Given the description of an element on the screen output the (x, y) to click on. 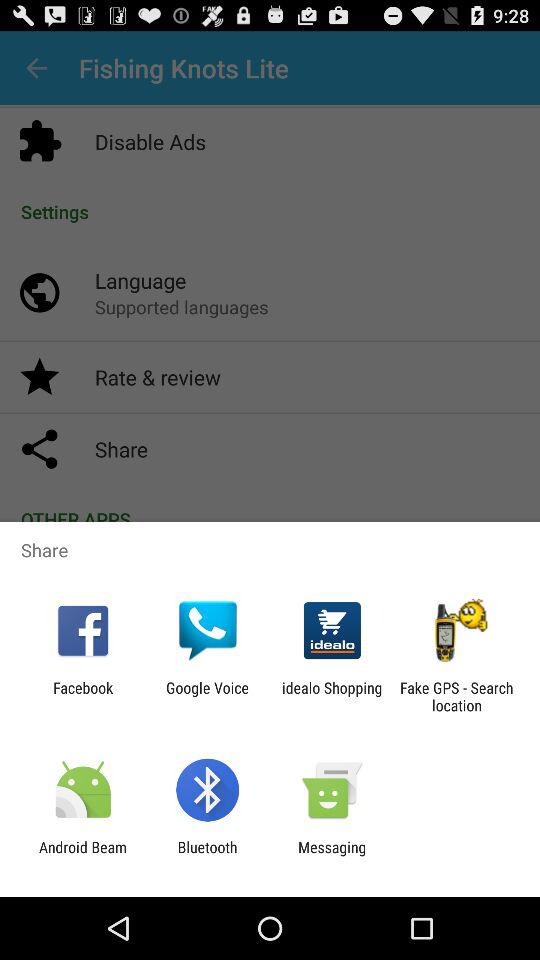
tap the icon next to android beam item (207, 856)
